Given the description of an element on the screen output the (x, y) to click on. 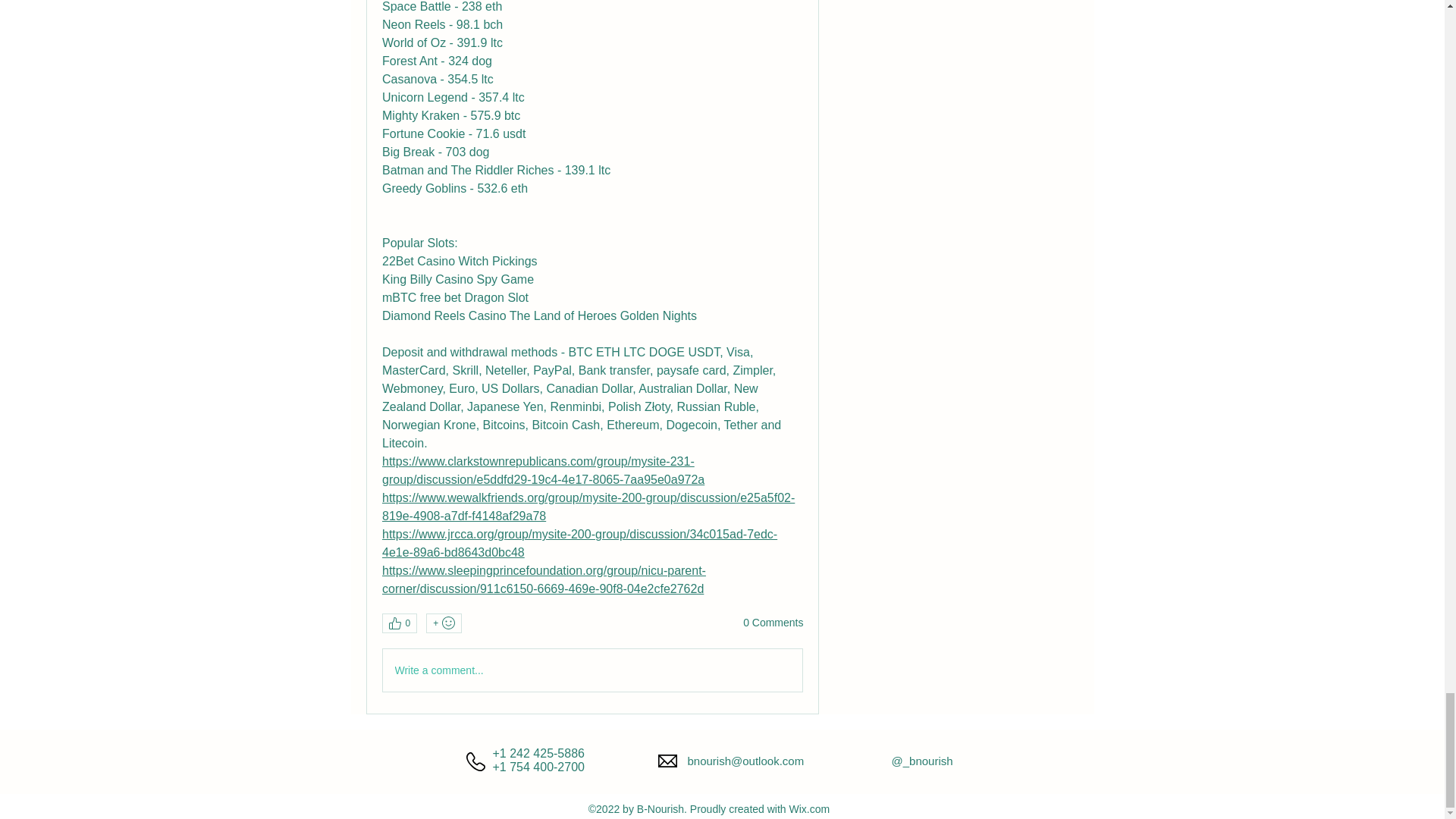
0 Comments (772, 622)
Write a comment... (591, 670)
